Given the description of an element on the screen output the (x, y) to click on. 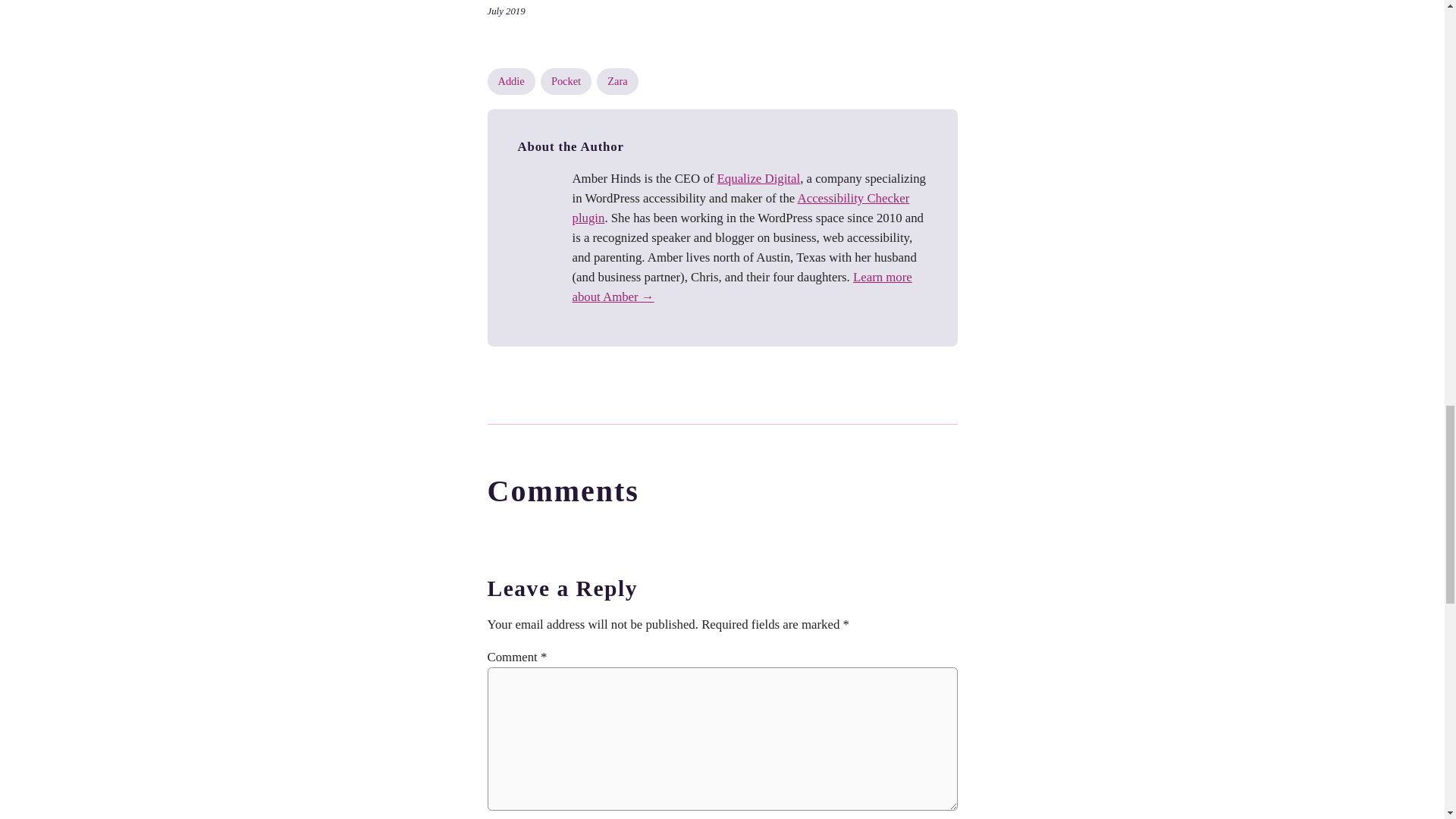
Equalize Digital (758, 178)
Zara (616, 80)
Addie (510, 80)
Pocket (565, 80)
Accessibility Checker plugin (740, 207)
